Given the description of an element on the screen output the (x, y) to click on. 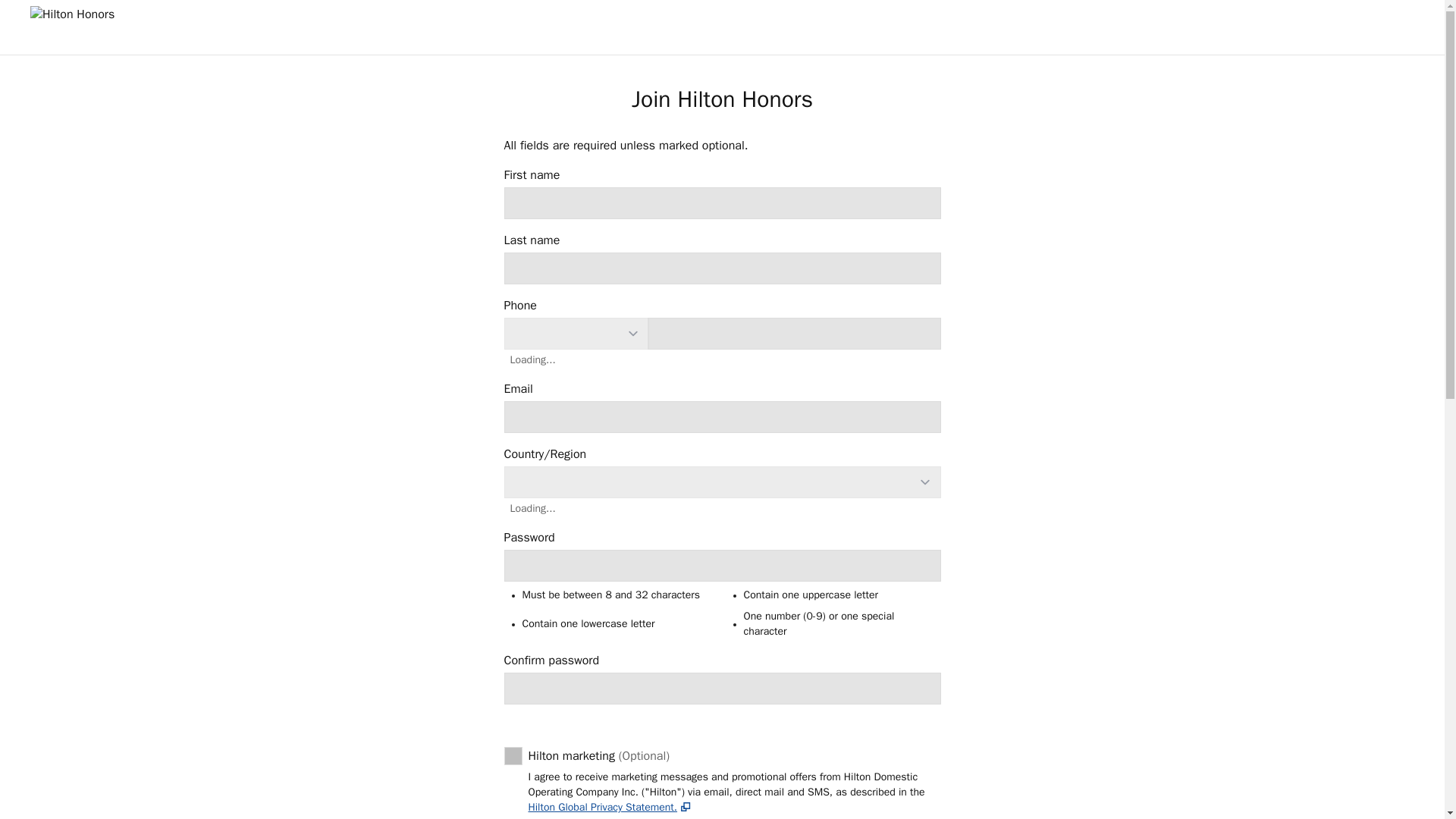
on (608, 807)
